Given the description of an element on the screen output the (x, y) to click on. 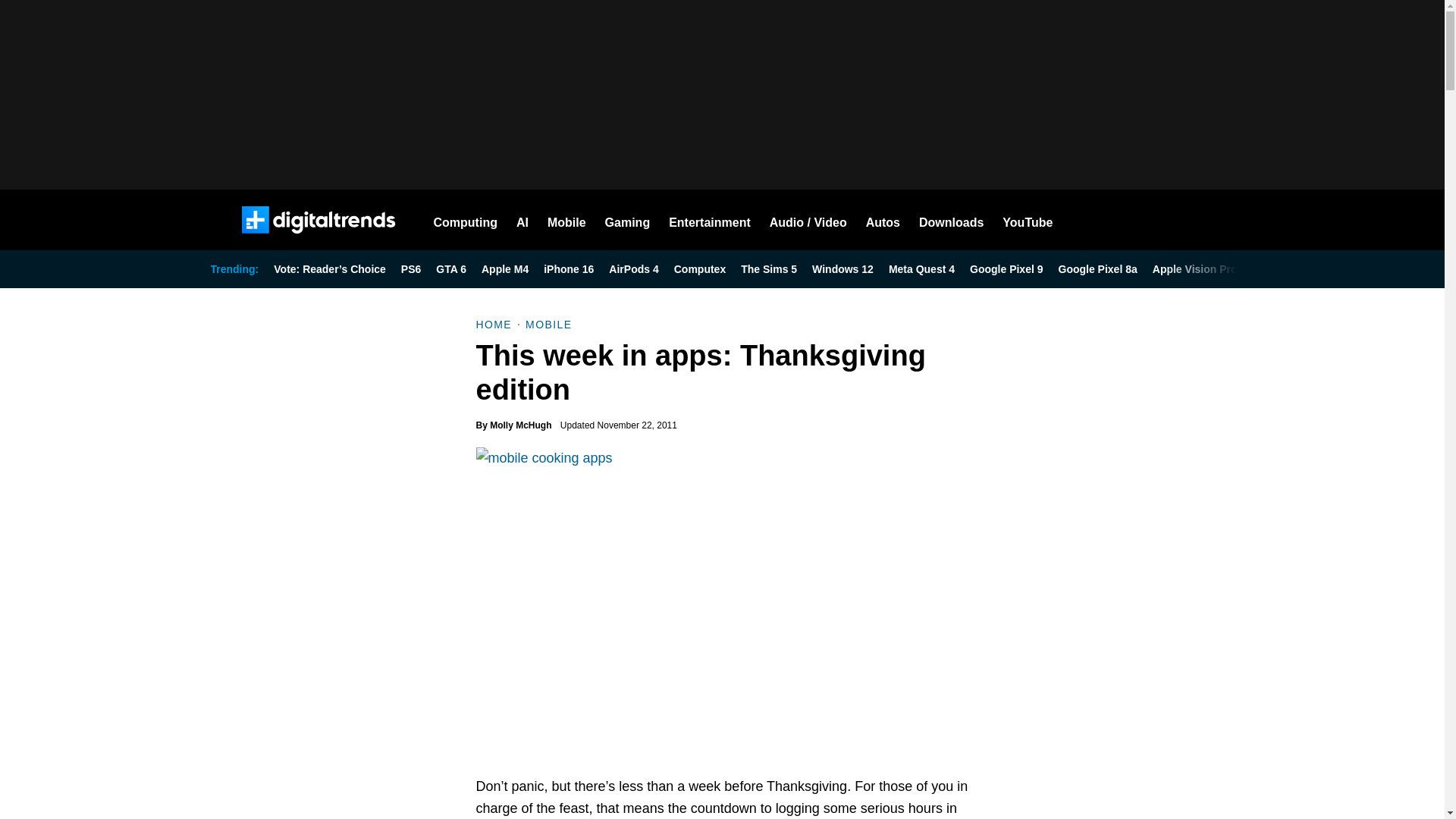
Computing (465, 219)
Downloads (951, 219)
Entertainment (709, 219)
